Given the description of an element on the screen output the (x, y) to click on. 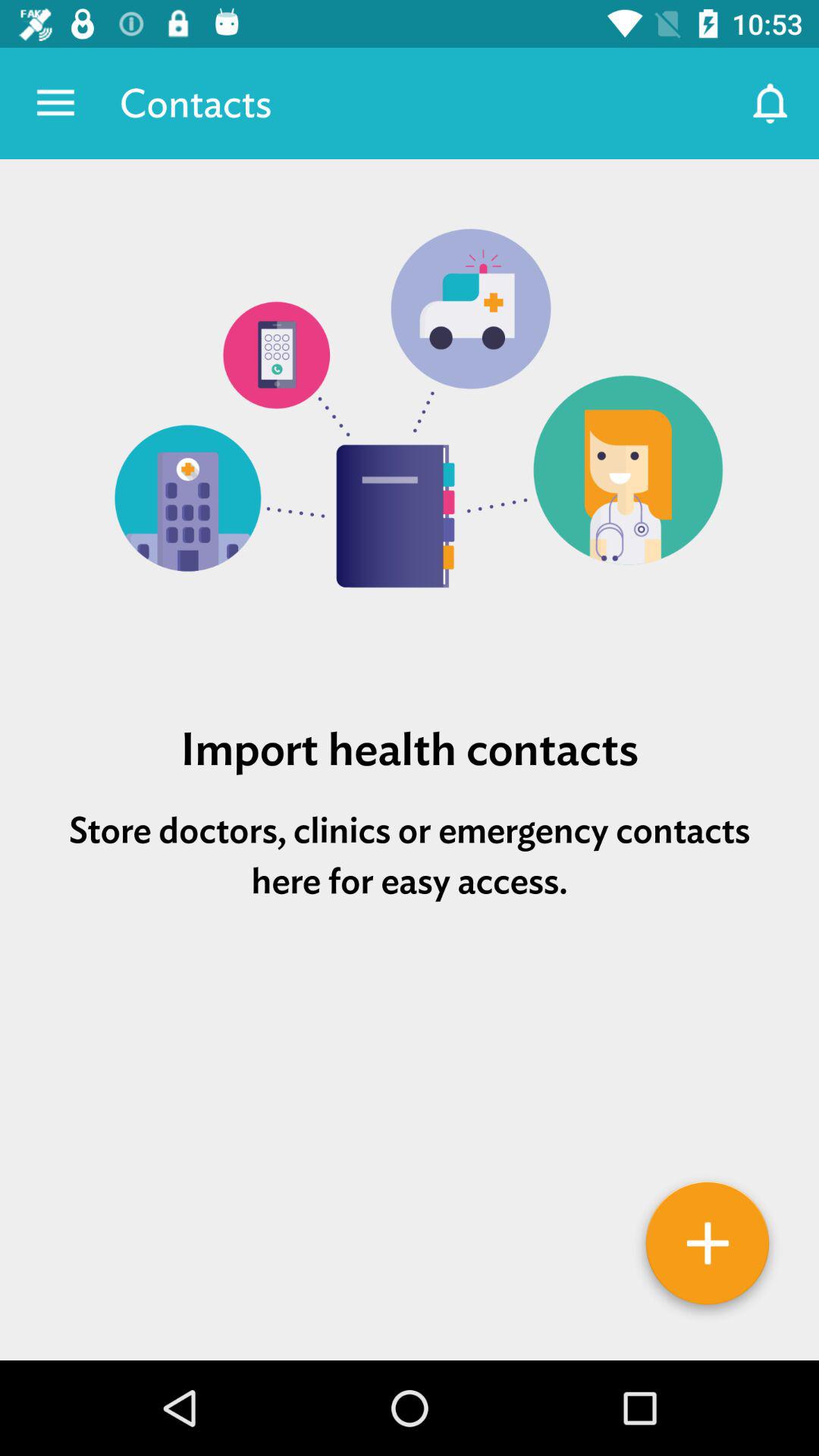
choose the store doctors clinics item (409, 855)
